Given the description of an element on the screen output the (x, y) to click on. 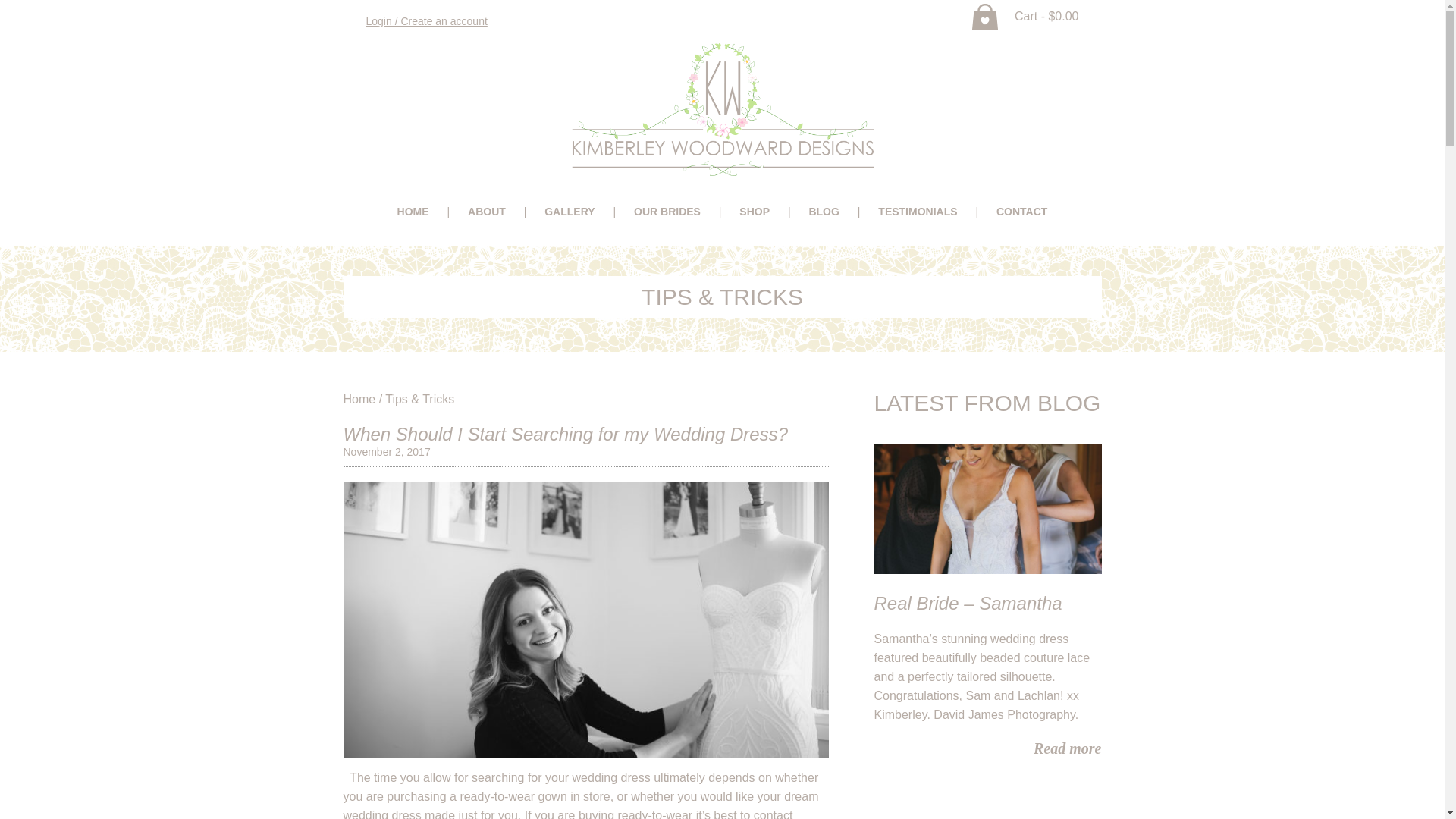
BLOG Element type: text (823, 211)
Cart - $0.00 Element type: text (1025, 15)
TESTIMONIALS Element type: text (917, 211)
HOME Element type: text (413, 211)
GALLERY Element type: text (569, 211)
CONTACT Element type: text (1021, 211)
Login / Create an account Element type: text (425, 21)
SHOP Element type: text (754, 211)
Read more Element type: text (1067, 748)
ABOUT Element type: text (486, 211)
OUR BRIDES Element type: text (666, 211)
When Should I Start Searching for my Wedding Dress? Element type: text (564, 433)
Home Element type: text (358, 398)
